Given the description of an element on the screen output the (x, y) to click on. 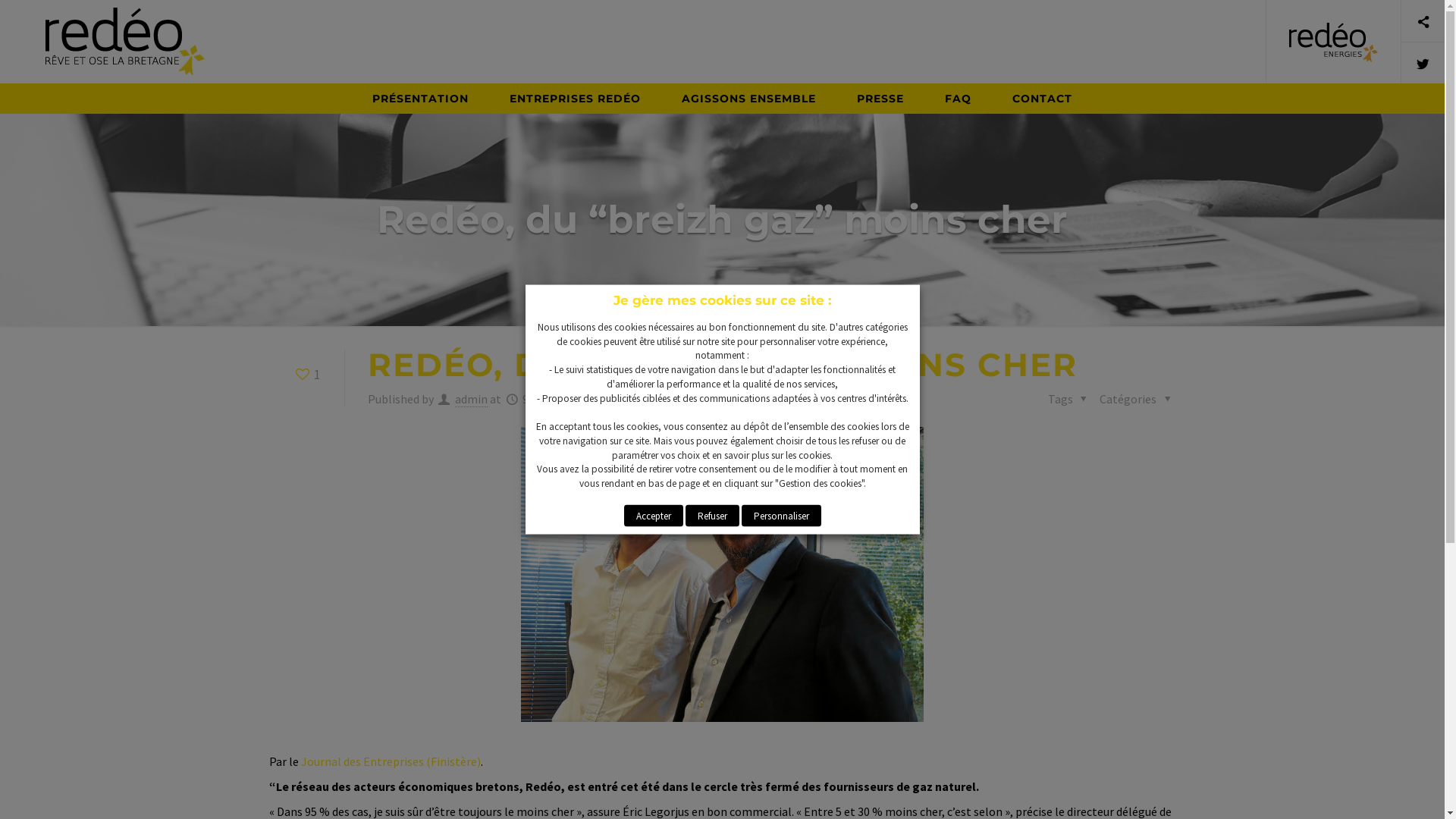
Personnaliser Element type: text (781, 515)
PRESSE Element type: text (880, 98)
admin Element type: text (471, 399)
AGISSONS ENSEMBLE Element type: text (748, 98)
FAQ Element type: text (957, 98)
Accepter Element type: text (652, 515)
Refuser Element type: text (712, 515)
CONTACT Element type: text (1041, 98)
1 Element type: text (306, 374)
